Given the description of an element on the screen output the (x, y) to click on. 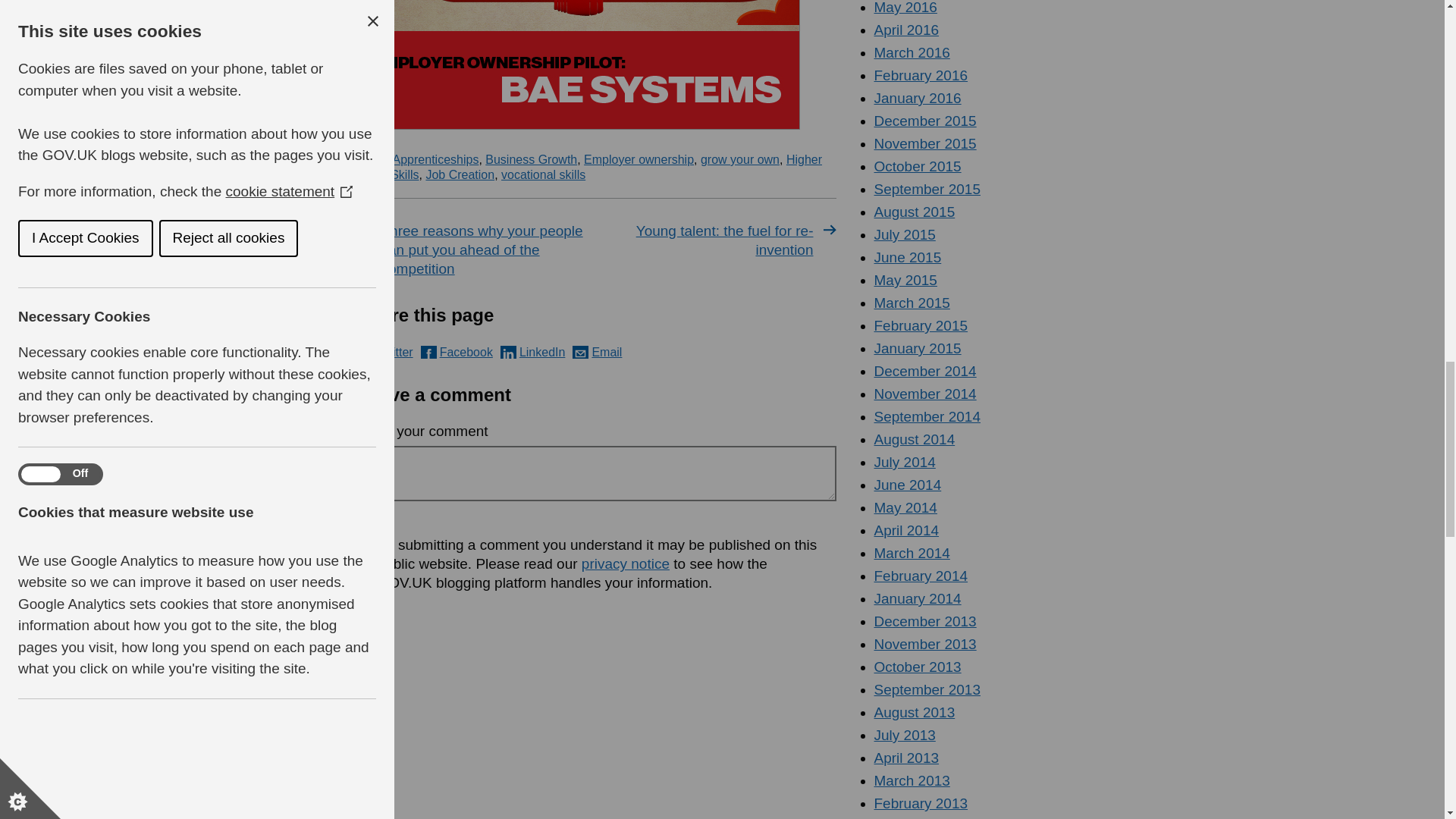
privacy notice (624, 563)
Twitter (385, 351)
LinkedIn (533, 351)
Facebook (456, 351)
vocational skills (542, 174)
grow your own (739, 159)
Email (596, 351)
Business Growth (530, 159)
Employer ownership (638, 159)
Apprenticeships (436, 159)
